Given the description of an element on the screen output the (x, y) to click on. 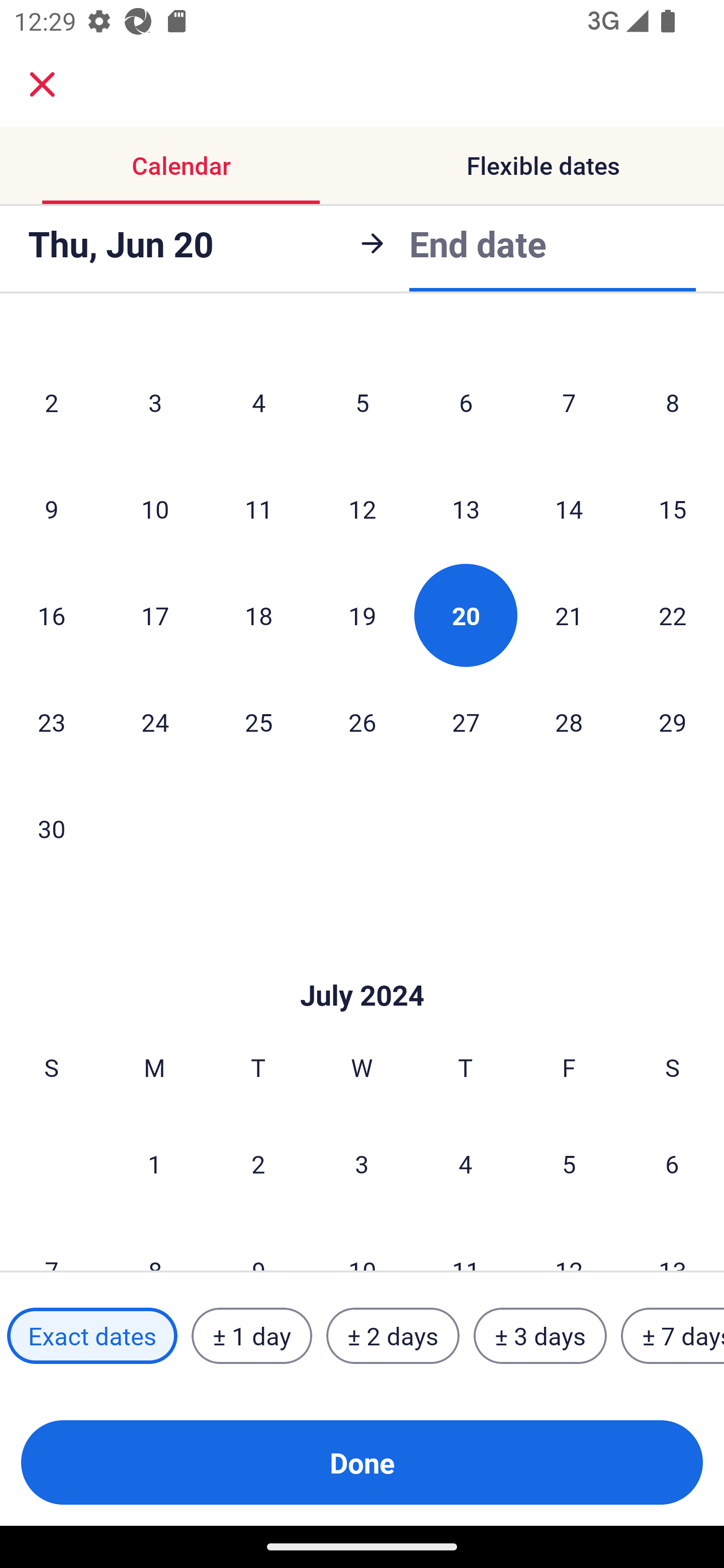
close. (42, 84)
Flexible dates (542, 164)
End date (477, 243)
2 Sunday, June 2, 2024 (51, 402)
3 Monday, June 3, 2024 (155, 402)
4 Tuesday, June 4, 2024 (258, 402)
5 Wednesday, June 5, 2024 (362, 402)
6 Thursday, June 6, 2024 (465, 402)
7 Friday, June 7, 2024 (569, 402)
8 Saturday, June 8, 2024 (672, 402)
9 Sunday, June 9, 2024 (51, 508)
10 Monday, June 10, 2024 (155, 508)
11 Tuesday, June 11, 2024 (258, 508)
12 Wednesday, June 12, 2024 (362, 508)
13 Thursday, June 13, 2024 (465, 508)
14 Friday, June 14, 2024 (569, 508)
15 Saturday, June 15, 2024 (672, 508)
16 Sunday, June 16, 2024 (51, 615)
17 Monday, June 17, 2024 (155, 615)
18 Tuesday, June 18, 2024 (258, 615)
19 Wednesday, June 19, 2024 (362, 615)
21 Friday, June 21, 2024 (569, 615)
22 Saturday, June 22, 2024 (672, 615)
23 Sunday, June 23, 2024 (51, 722)
24 Monday, June 24, 2024 (155, 722)
25 Tuesday, June 25, 2024 (258, 722)
26 Wednesday, June 26, 2024 (362, 722)
27 Thursday, June 27, 2024 (465, 722)
28 Friday, June 28, 2024 (569, 722)
29 Saturday, June 29, 2024 (672, 722)
30 Sunday, June 30, 2024 (51, 828)
Skip to Done (362, 965)
1 Monday, July 1, 2024 (154, 1163)
2 Tuesday, July 2, 2024 (257, 1163)
3 Wednesday, July 3, 2024 (361, 1163)
4 Thursday, July 4, 2024 (465, 1163)
5 Friday, July 5, 2024 (568, 1163)
6 Saturday, July 6, 2024 (672, 1163)
Exact dates (92, 1335)
± 1 day (251, 1335)
± 2 days (392, 1335)
± 3 days (539, 1335)
± 7 days (672, 1335)
Done (361, 1462)
